Given the description of an element on the screen output the (x, y) to click on. 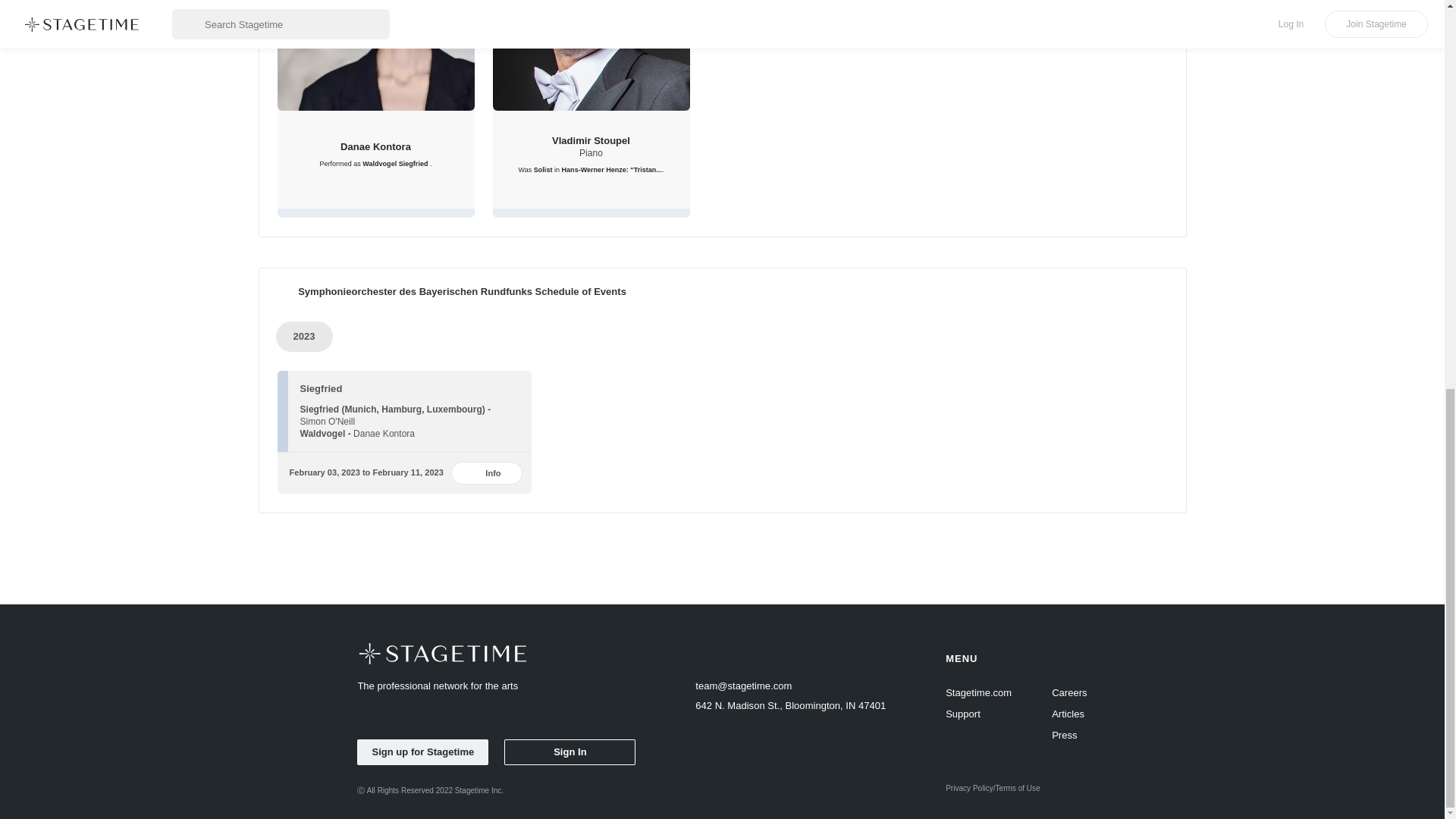
2023 (304, 336)
Stagetime.com (977, 692)
Sign up for Stagetime (421, 751)
Danae Kontora (375, 145)
Info (485, 472)
Simon O'Neill (327, 420)
Support (977, 713)
Danae Kontora (383, 432)
STAGETIME (442, 652)
Sign In (568, 751)
Vladimir Stoupel (590, 139)
